Given the description of an element on the screen output the (x, y) to click on. 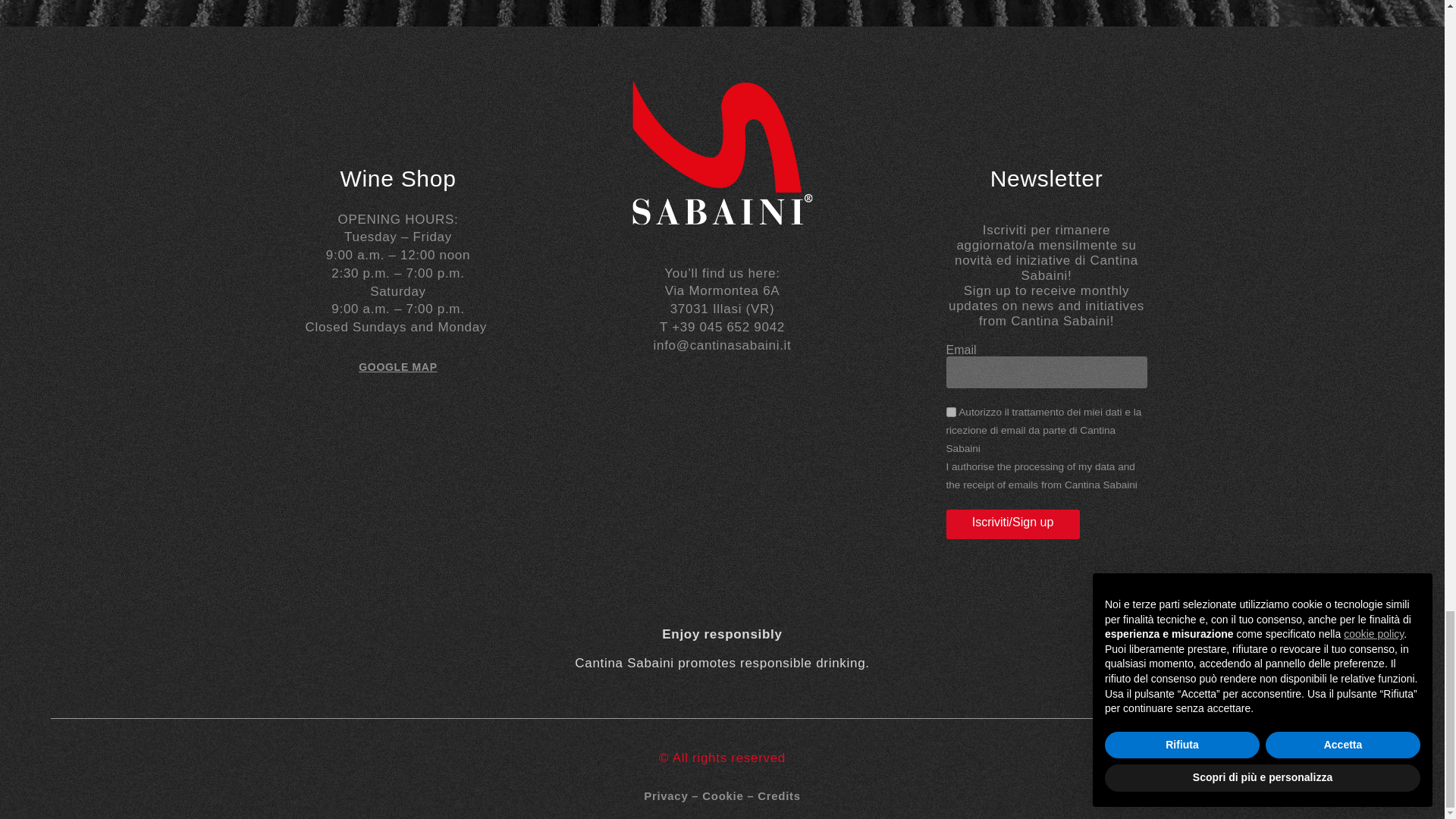
GOOGLE MAP (397, 367)
Cookie (721, 795)
Credits (778, 795)
on (951, 411)
Privacy (665, 795)
